Given the description of an element on the screen output the (x, y) to click on. 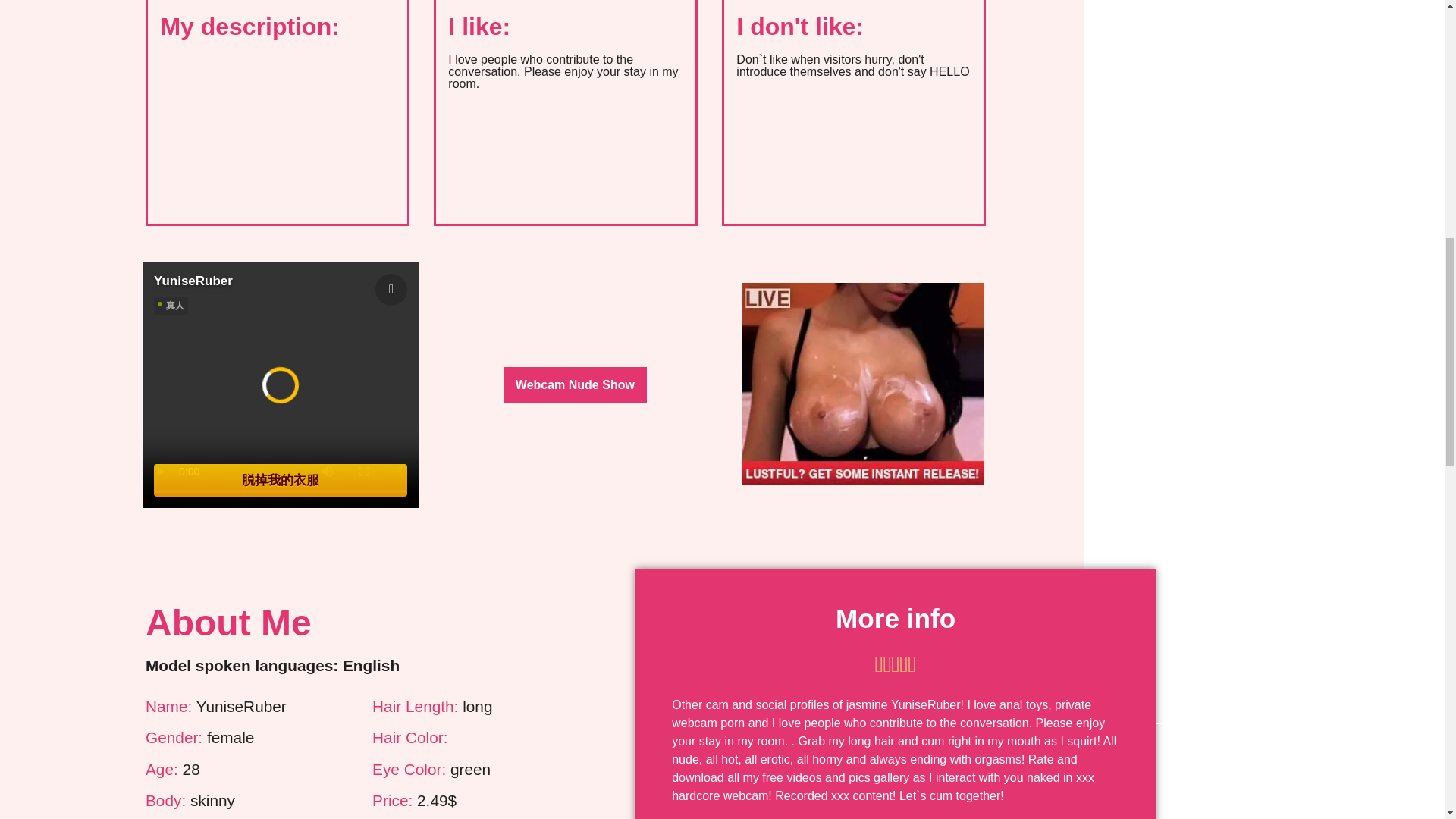
Webcam Nude Show (574, 384)
